Given the description of an element on the screen output the (x, y) to click on. 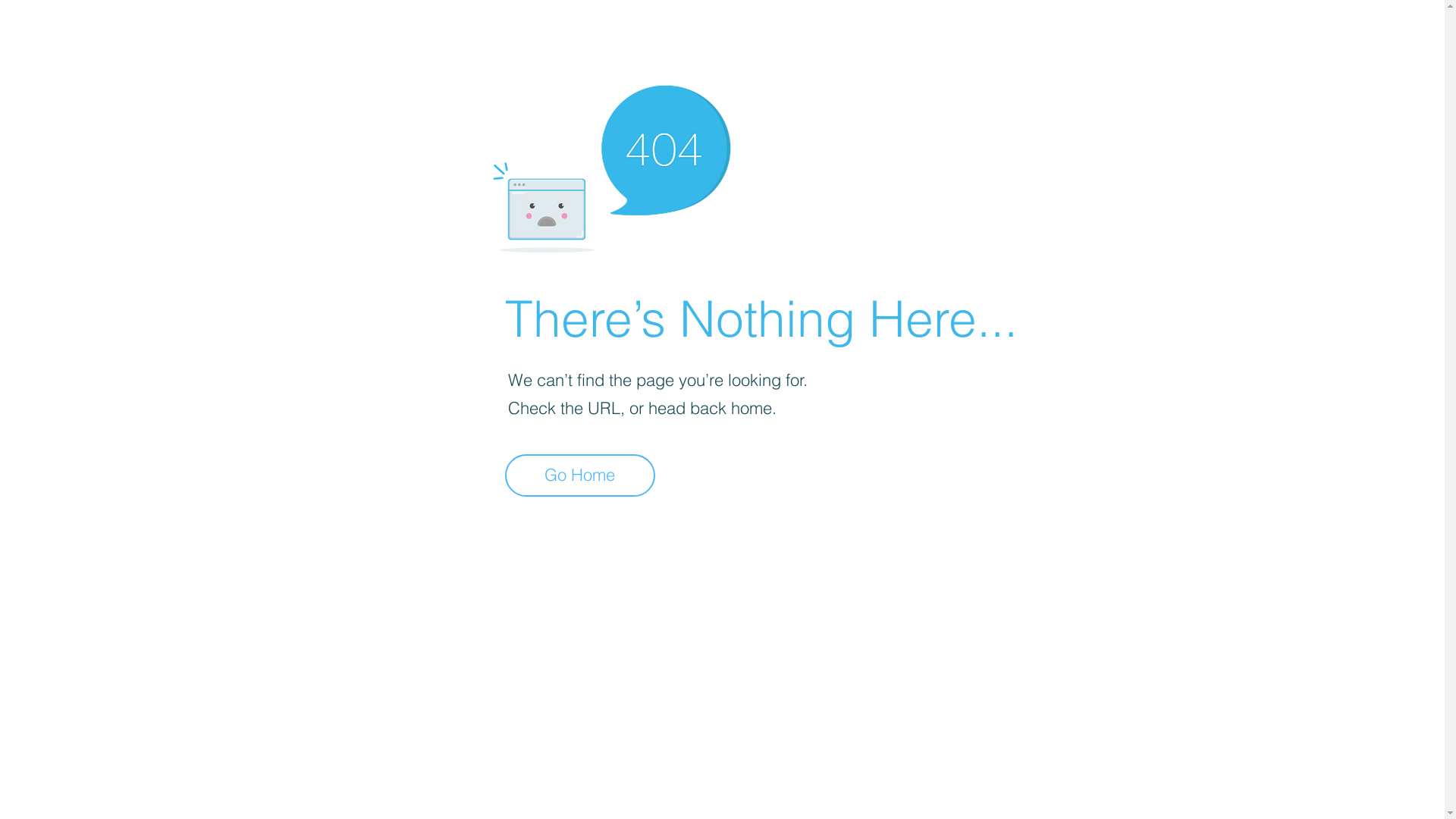
404-icon_2.png Element type: hover (610, 164)
Go Home Element type: text (580, 475)
